Given the description of an element on the screen output the (x, y) to click on. 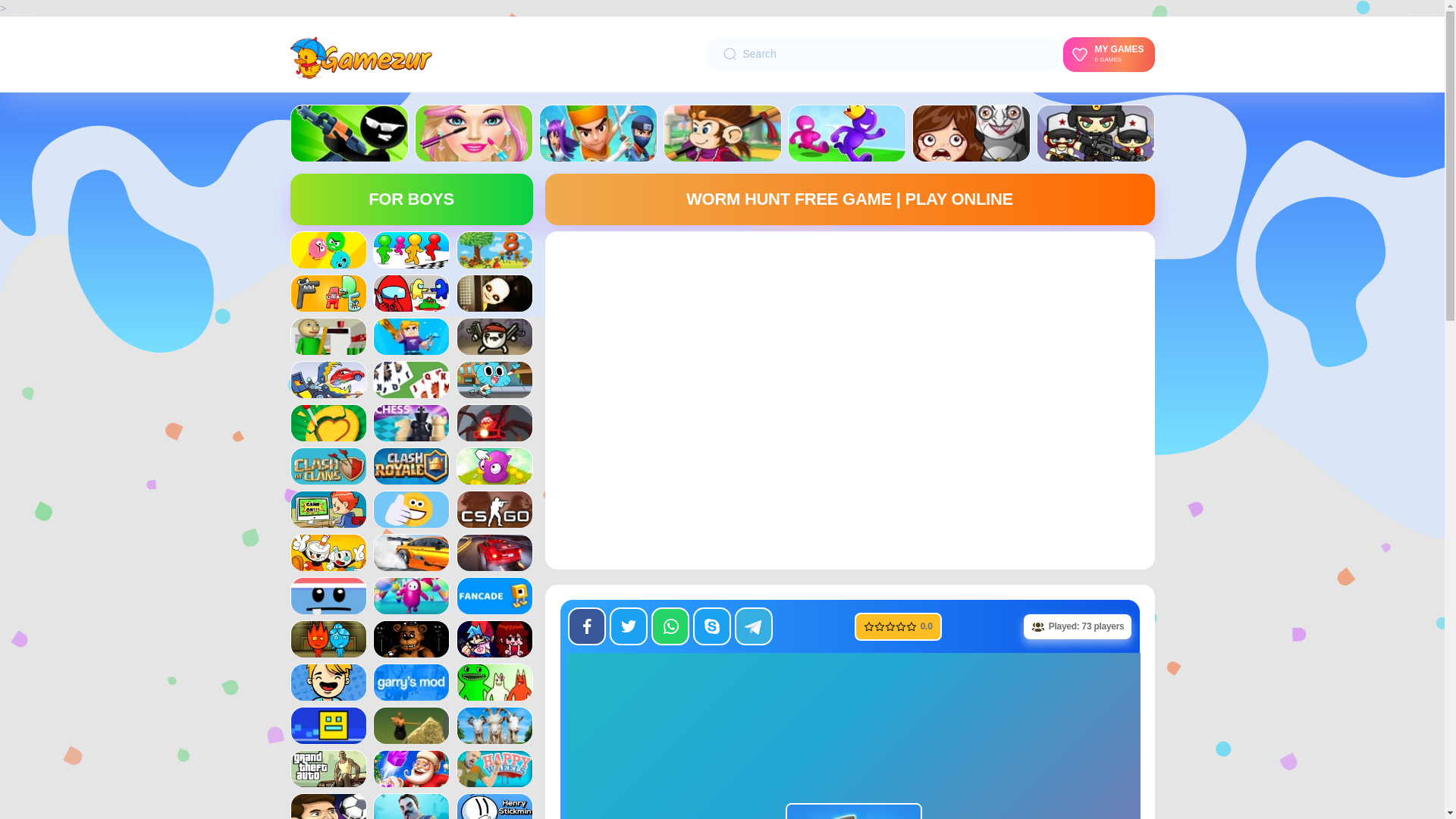
3 Player (328, 249)
4 Player (1108, 53)
Games for Boys (411, 249)
Horror (349, 133)
Horror (970, 152)
4 Player (970, 133)
Games for Girls (411, 259)
Running (473, 152)
Games for Girls (847, 152)
3 Player (473, 133)
Multiplayer (328, 259)
Adventure (1095, 152)
Running (721, 133)
Multiplayer (847, 133)
